Given the description of an element on the screen output the (x, y) to click on. 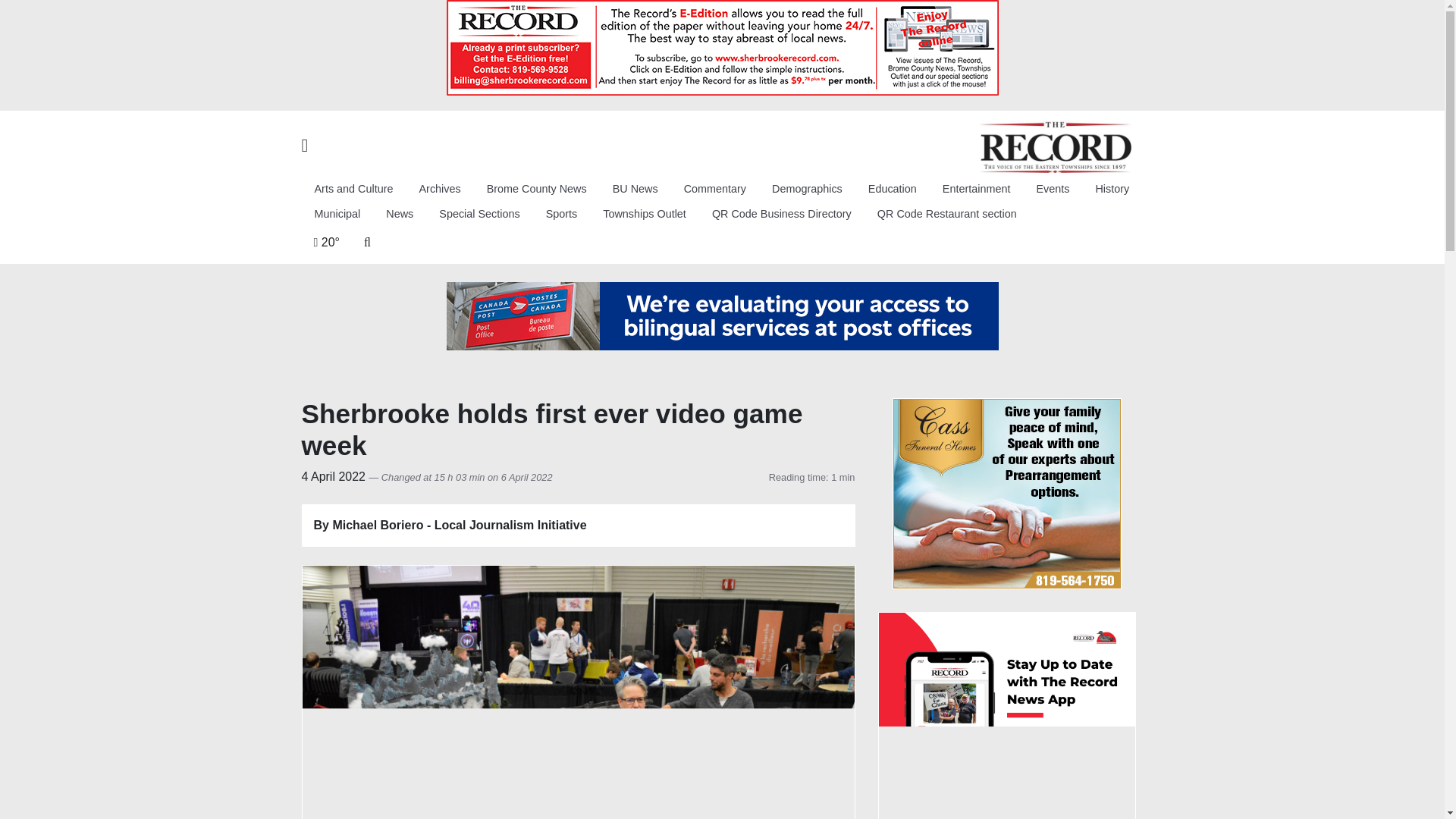
Arts and Culture (353, 188)
QR Code Restaurant section (946, 214)
Archives (439, 188)
Education (893, 188)
Entertainment (976, 188)
Municipal (337, 214)
BU News (635, 188)
Events (1052, 188)
Demographics (807, 188)
Townships Outlet (643, 214)
Education (893, 188)
Brome County News (536, 188)
Archives (439, 188)
Special Sections (479, 214)
BU News (635, 188)
